Given the description of an element on the screen output the (x, y) to click on. 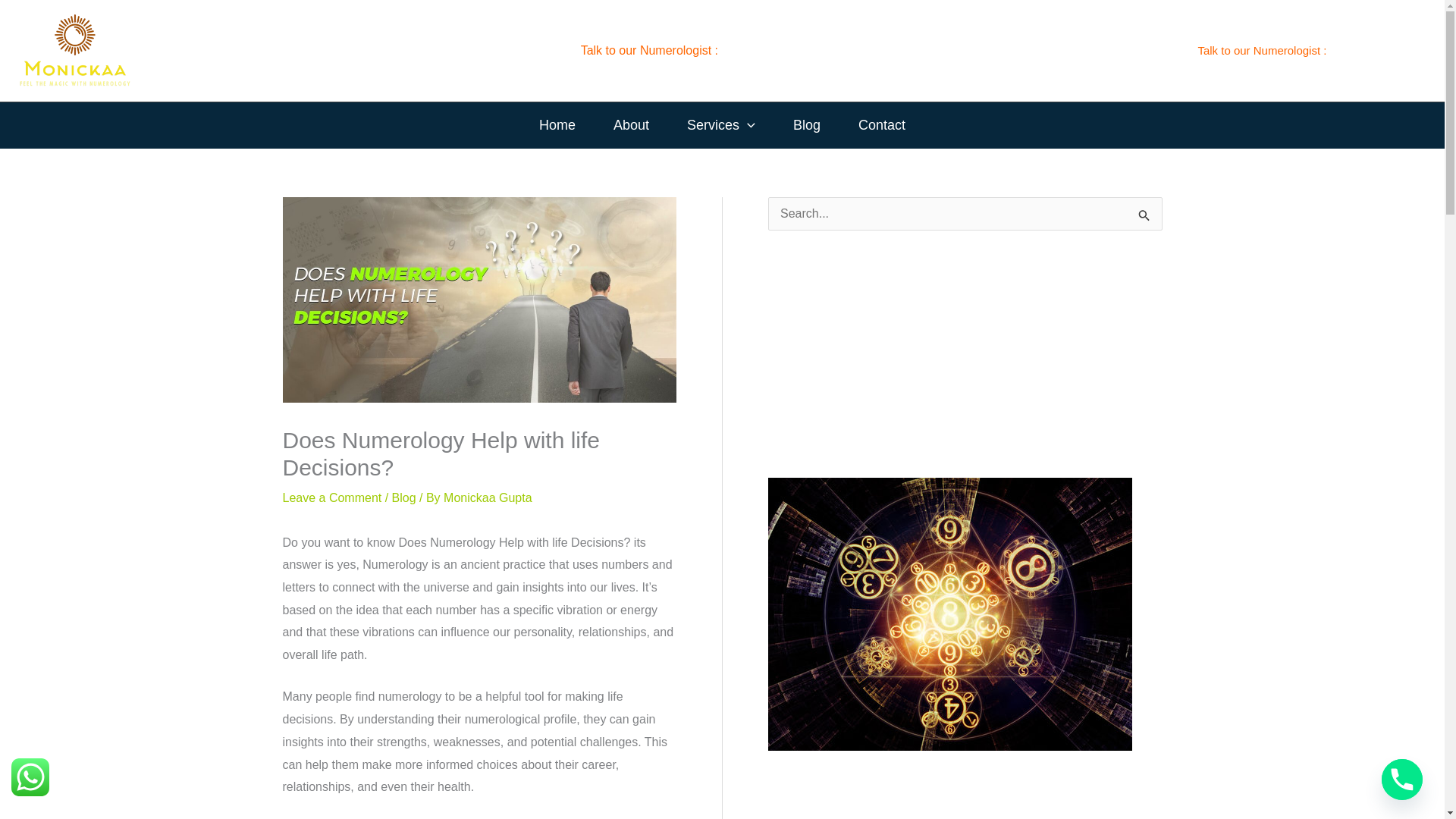
Search (1144, 225)
Blog (807, 125)
Contact (882, 125)
Services (721, 125)
About (631, 125)
View all posts by Monickaa Gupta (488, 497)
Search (1144, 225)
Home (556, 125)
